Given the description of an element on the screen output the (x, y) to click on. 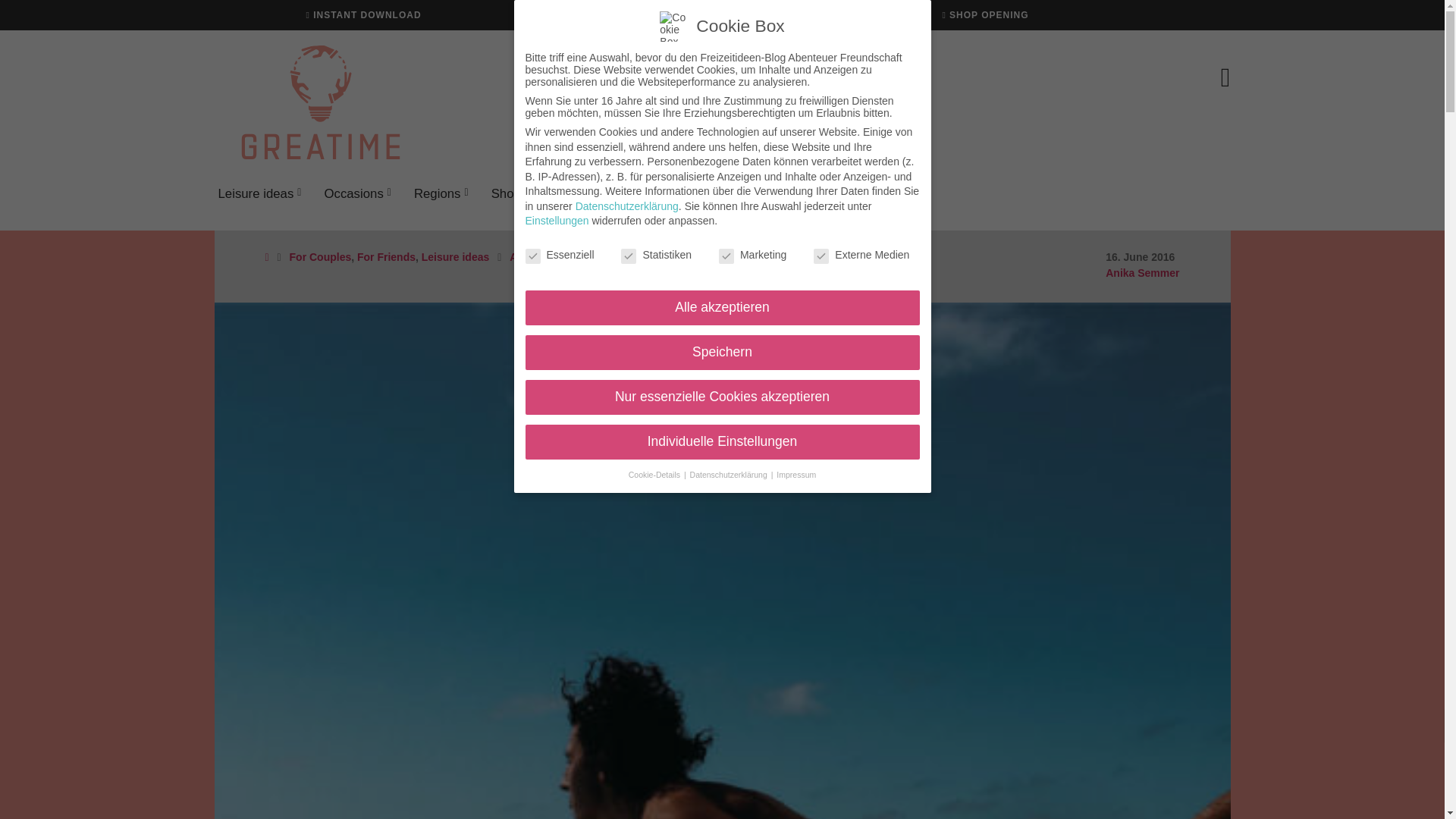
View your shopping basket (1177, 50)
Leisure ideas (256, 193)
Skip to content (58, 19)
Regions (437, 193)
SEARCH BUTTON (808, 76)
Occasions (352, 193)
Logo Solo (319, 101)
Shop (506, 193)
